Given the description of an element on the screen output the (x, y) to click on. 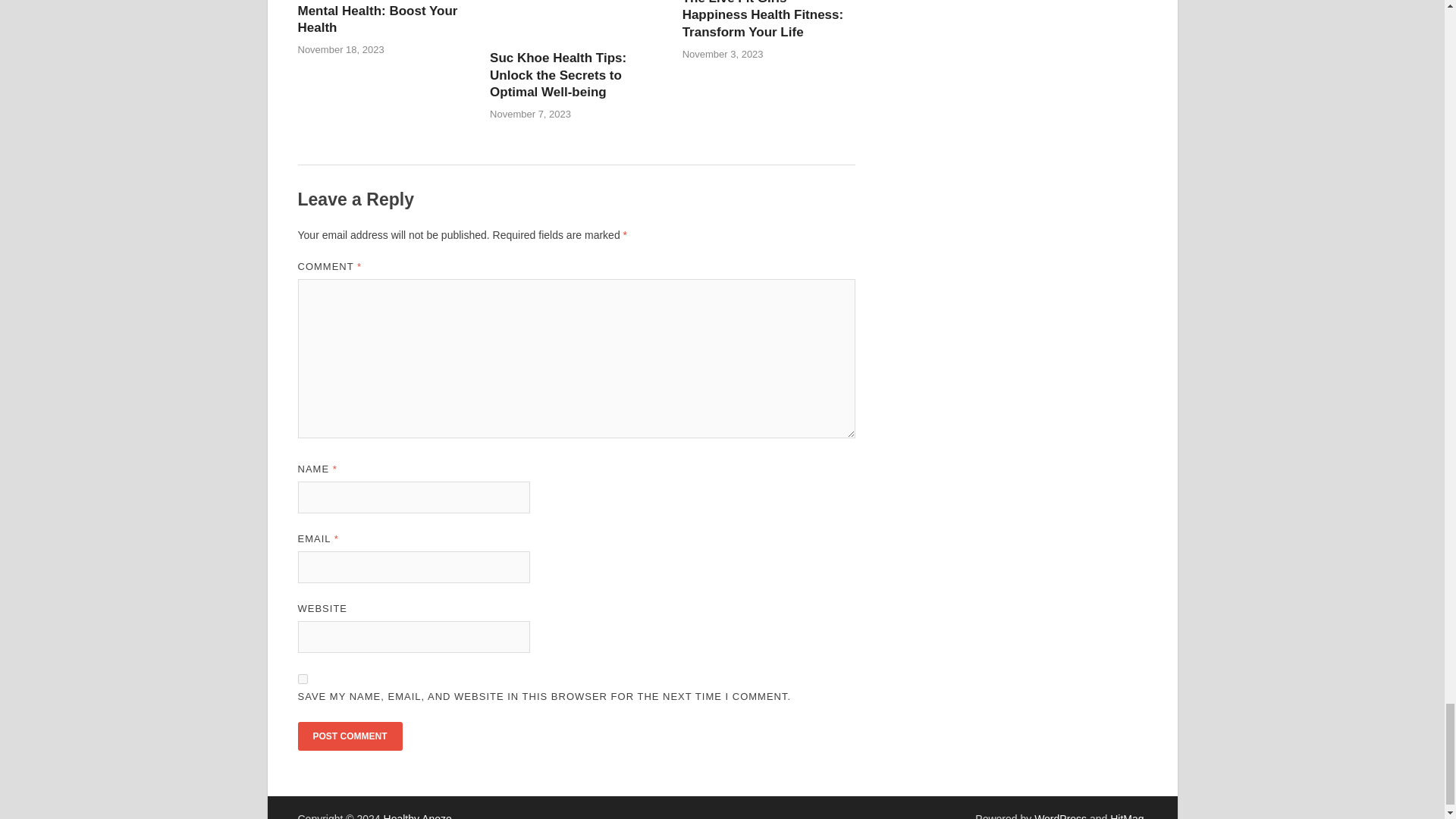
Post Comment (349, 736)
yes (302, 678)
